Given the description of an element on the screen output the (x, y) to click on. 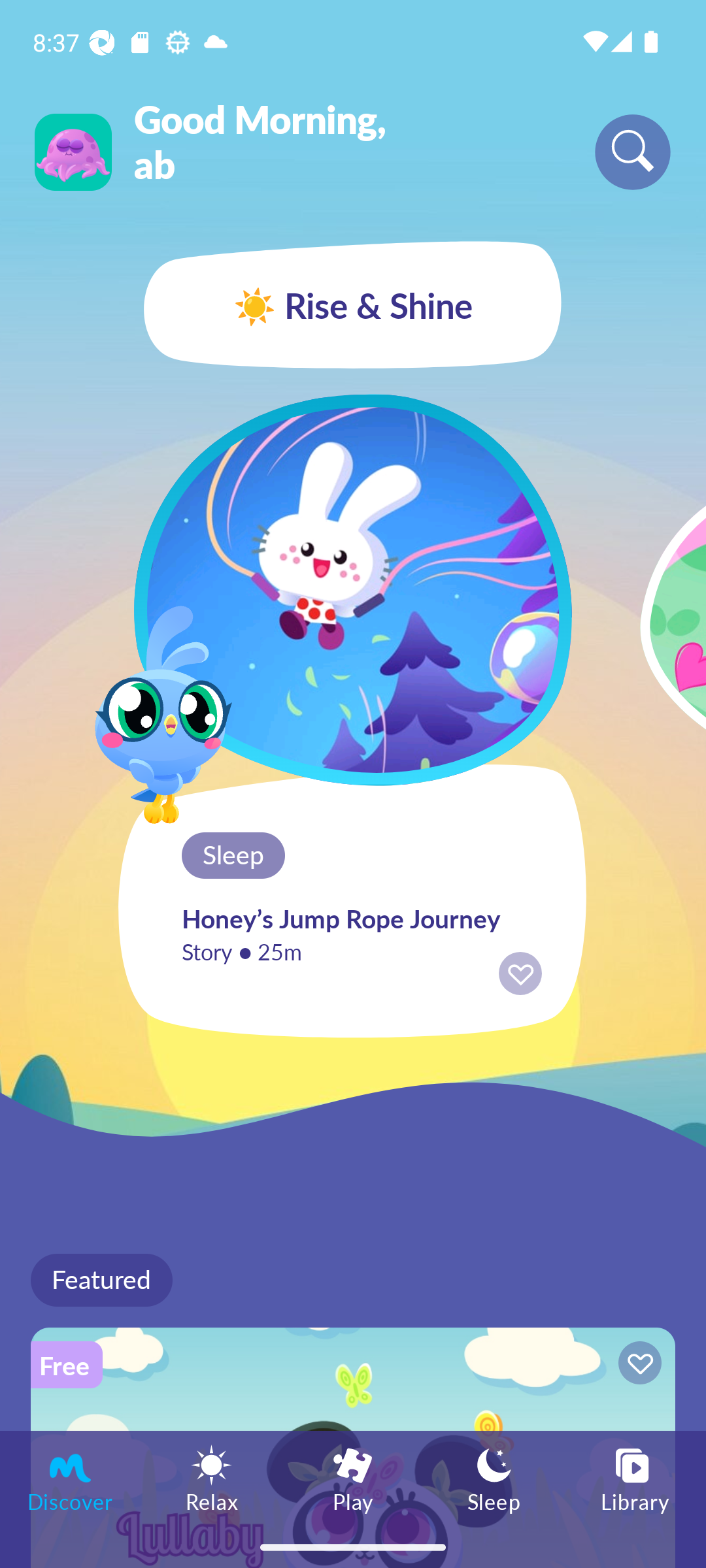
Search (632, 151)
action (520, 973)
Button (636, 1365)
Relax (211, 1478)
Play (352, 1478)
Sleep (493, 1478)
Library (635, 1478)
